Given the description of an element on the screen output the (x, y) to click on. 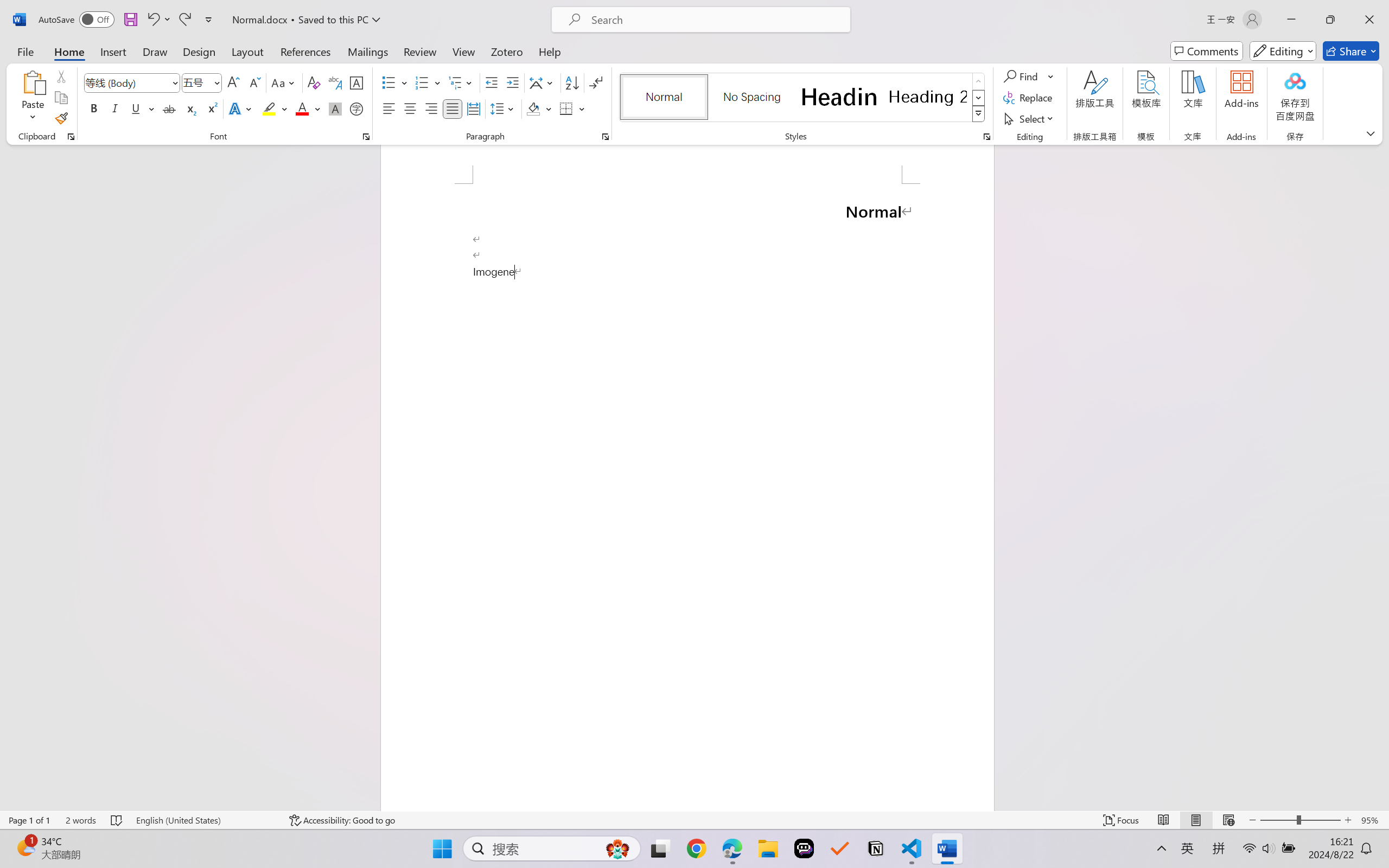
Decrease Indent (491, 82)
Text Highlight Color Yellow (269, 108)
Shading (539, 108)
Heading 1 (839, 96)
Mode (1283, 50)
Page Number Page 1 of 1 (29, 819)
Class: NetUIScrollBar (1382, 477)
Cut (60, 75)
Copy (60, 97)
